Given the description of an element on the screen output the (x, y) to click on. 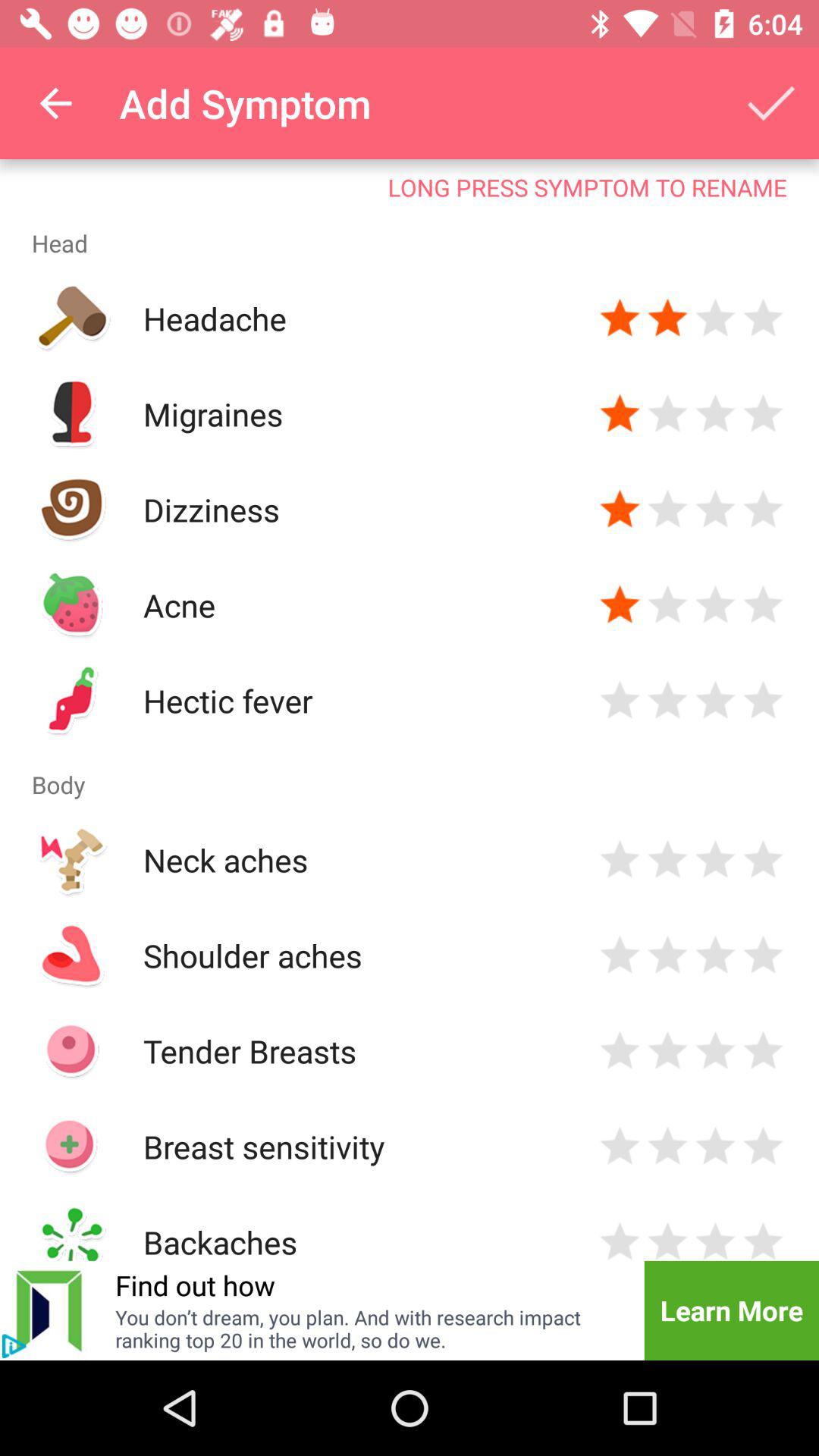
press the learn more icon (731, 1310)
